Given the description of an element on the screen output the (x, y) to click on. 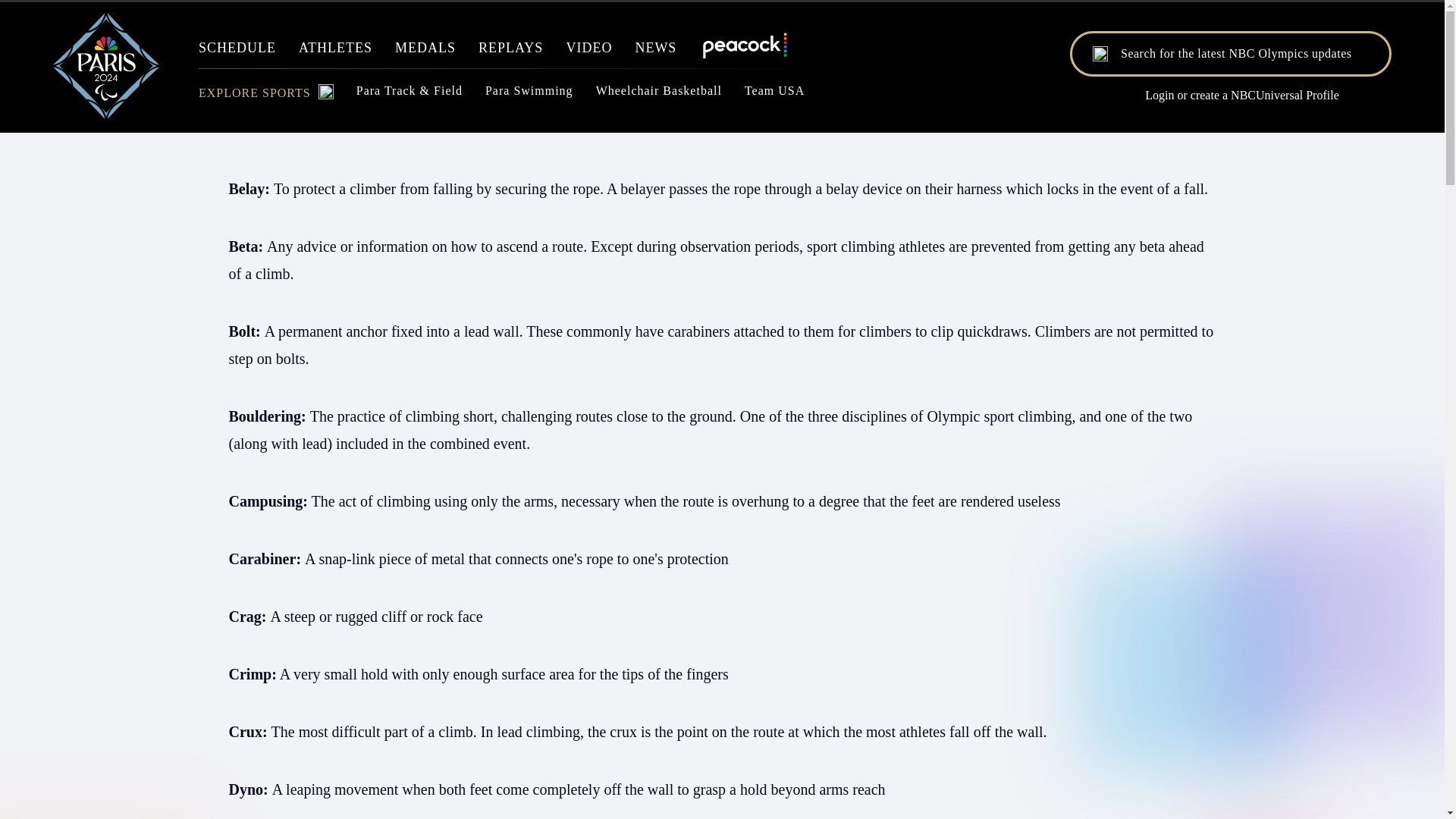
Wheelchair Basketball (658, 94)
Login or create a NBCUniversal Profile (1229, 95)
Paris Paralympics 2024 Homepage (105, 114)
Paris Paralympics 2024 Homepage (105, 114)
Team USA (774, 94)
VIDEO (588, 51)
ATHLETES (335, 51)
Para Swimming (528, 94)
Skip to main content (721, 119)
Explore Sports (265, 96)
